Given the description of an element on the screen output the (x, y) to click on. 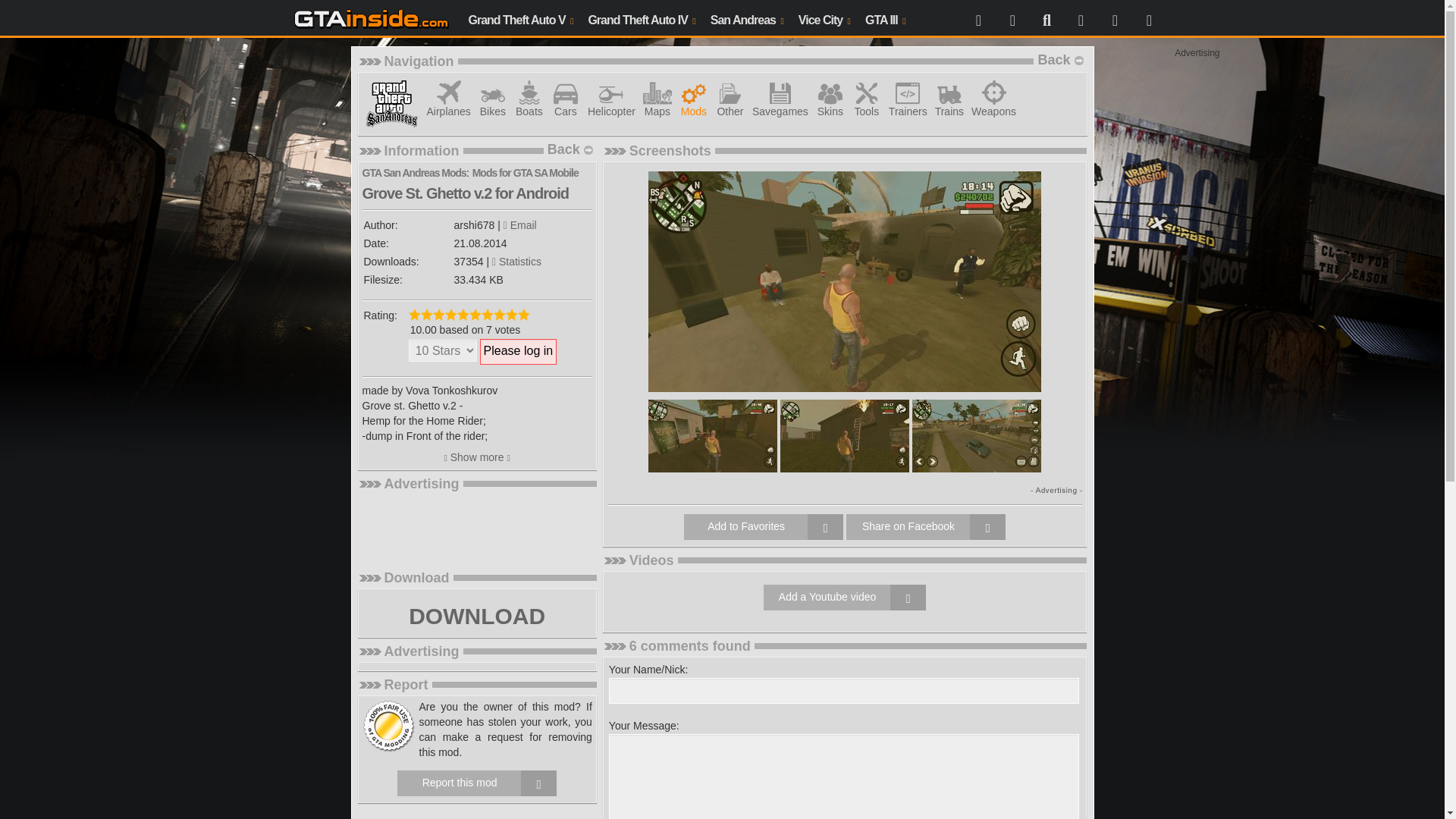
Menu (977, 18)
Grove St. Ghetto v.2 for Android (976, 435)
Grove St. Ghetto v.2 for Android (712, 435)
Grove St. Ghetto v.2 for Android (844, 435)
Grand Theft Auto IV (640, 18)
Search (1046, 18)
Your Profile (1011, 18)
Upload your mod (1079, 18)
Share on Facebook (925, 526)
Grand Theft Auto V (520, 18)
Grove St. Ghetto v.2 for Android (844, 280)
Please log in (518, 351)
Add this mod to your GTAinside Favorites (763, 526)
Notifications (1148, 18)
Messages (1114, 18)
